Given the description of an element on the screen output the (x, y) to click on. 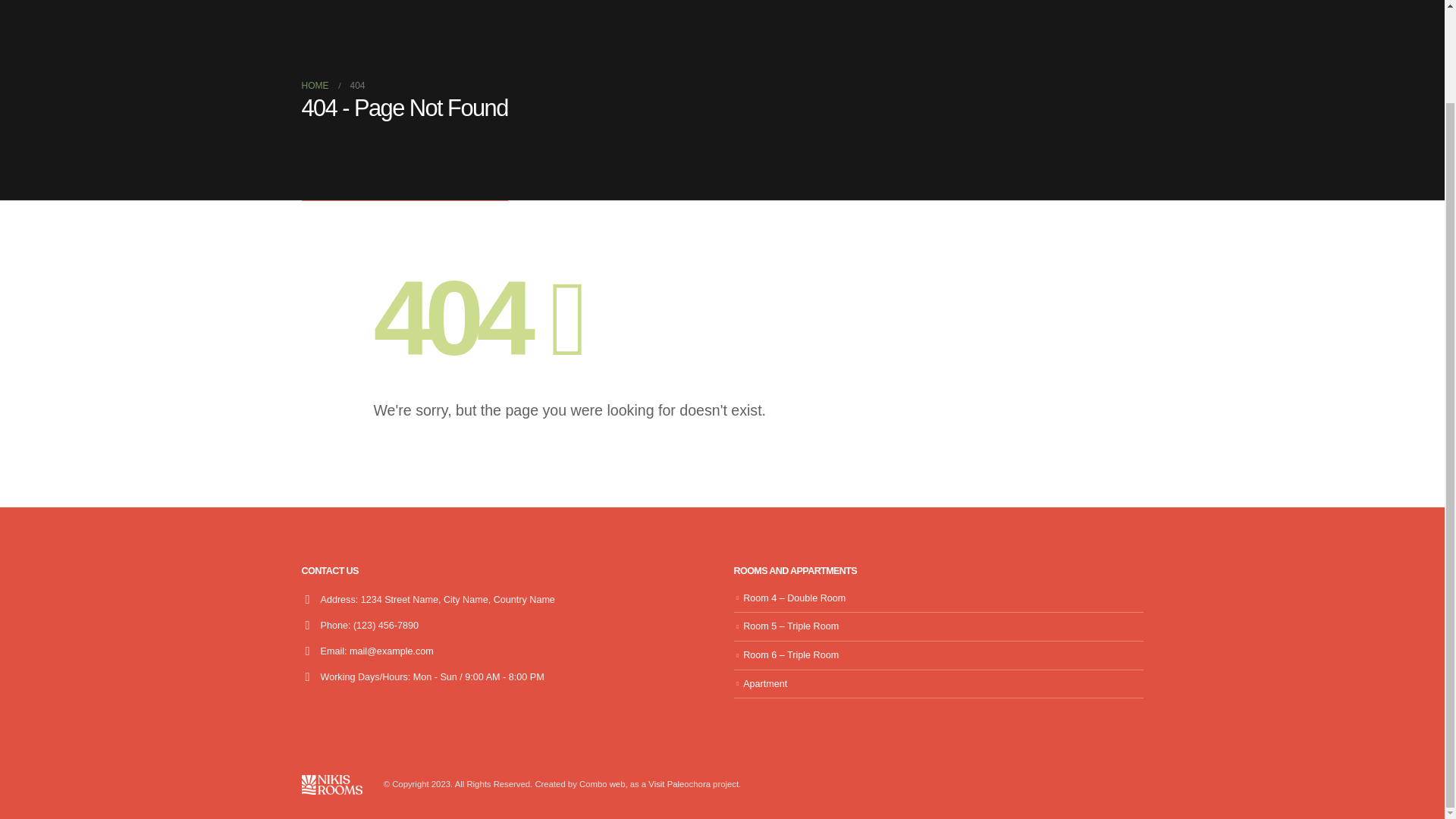
HOME (315, 85)
Go to Home Page (315, 85)
Combo web (601, 783)
Apartment (764, 683)
Visit Paleochora (678, 783)
